Given the description of an element on the screen output the (x, y) to click on. 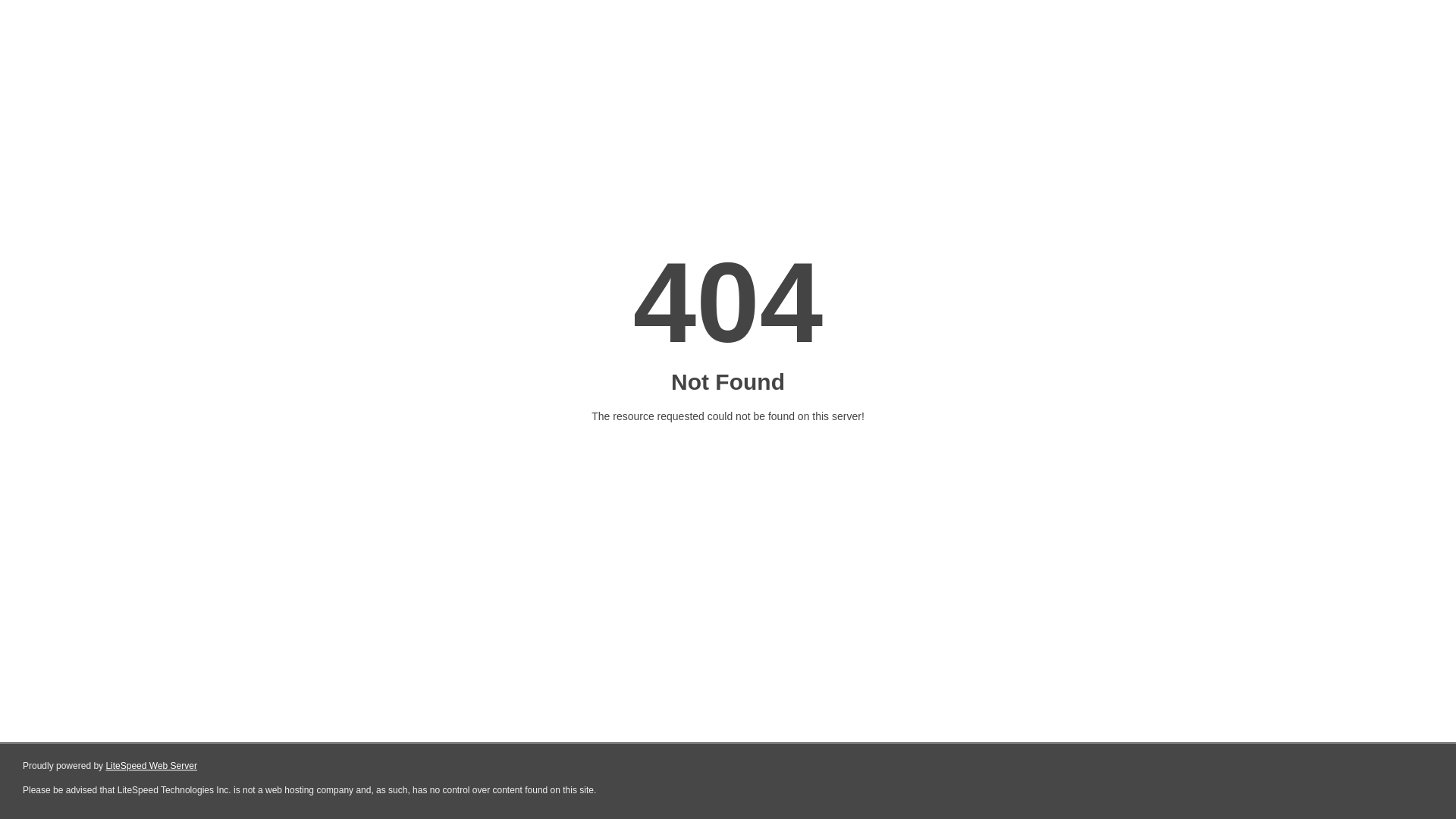
LiteSpeed Web Server Element type: text (151, 765)
